Given the description of an element on the screen output the (x, y) to click on. 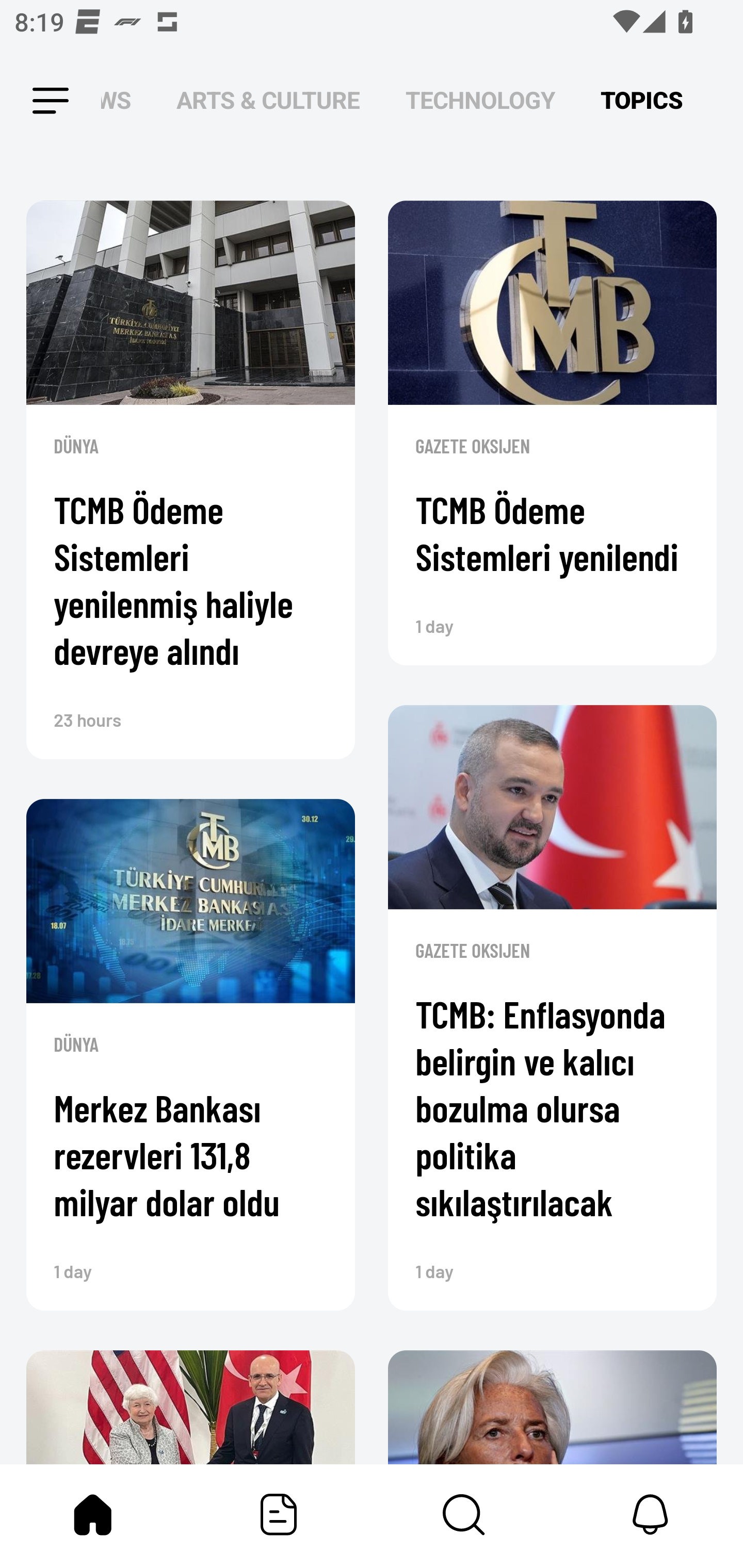
NEWS (121, 100)
ARTS & CULTURE (268, 100)
TECHNOLOGY (480, 100)
Featured (278, 1514)
Content Store (464, 1514)
Notifications (650, 1514)
